Given the description of an element on the screen output the (x, y) to click on. 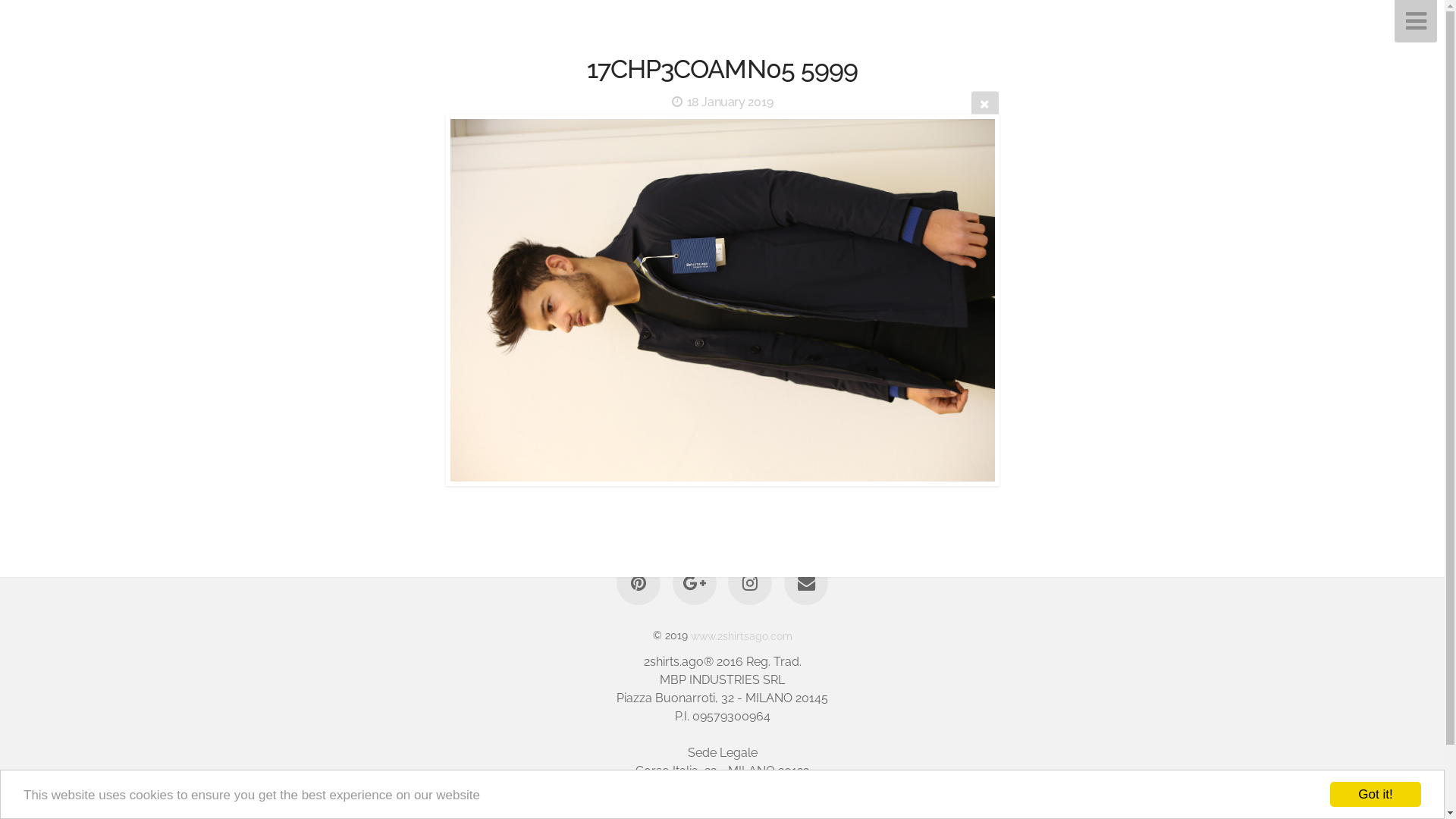
www.2shirtsago.com Element type: text (740, 635)
Got it! Element type: text (1375, 793)
